Given the description of an element on the screen output the (x, y) to click on. 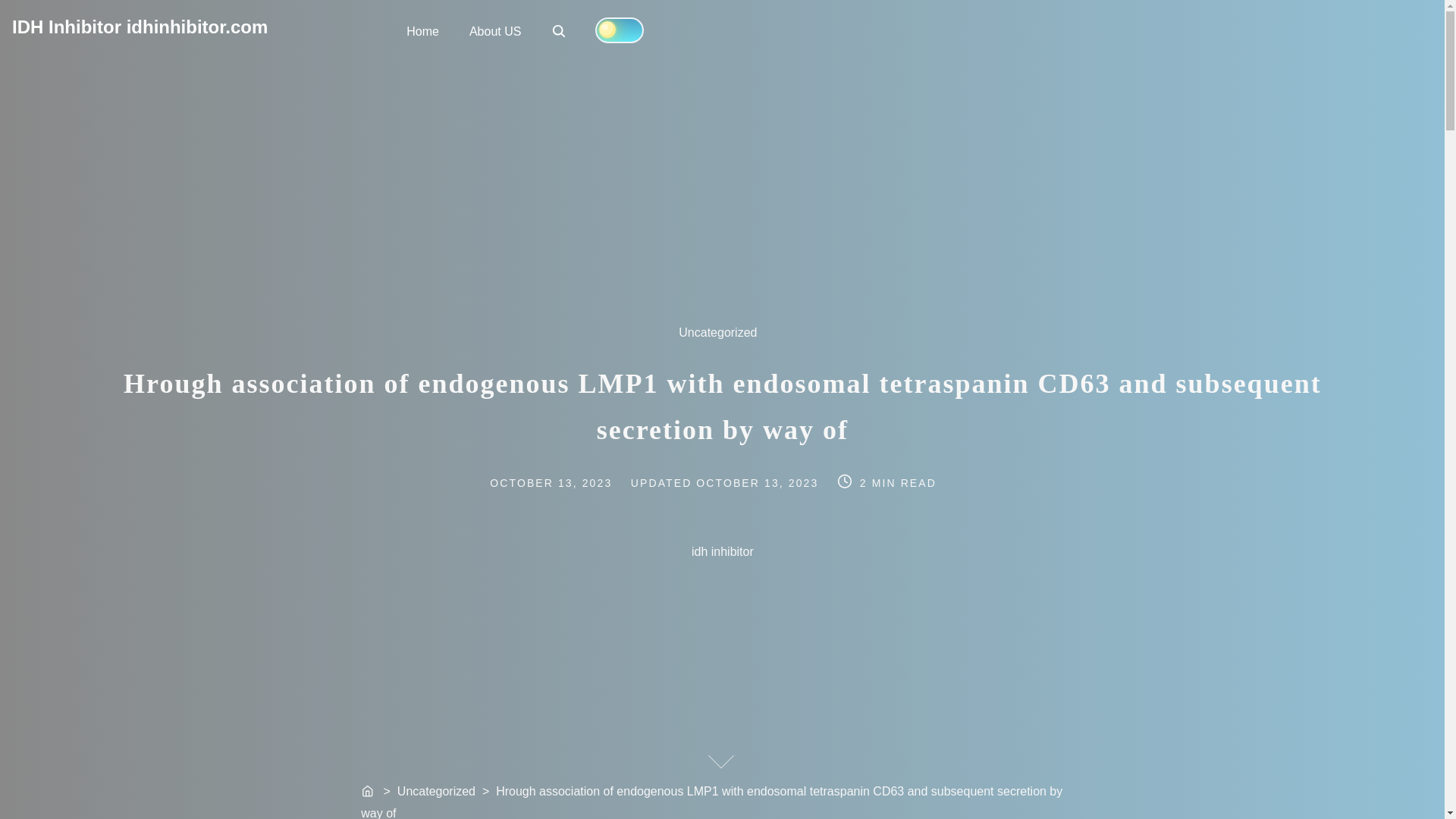
OCTOBER 13, 2023 (759, 480)
IDH Inhibitor idhinhibitor.com (139, 26)
Search (558, 30)
Uncategorized (726, 341)
Home (422, 30)
OCTOBER 13, 2023 (559, 31)
About US (569, 480)
Home (494, 30)
